Given the description of an element on the screen output the (x, y) to click on. 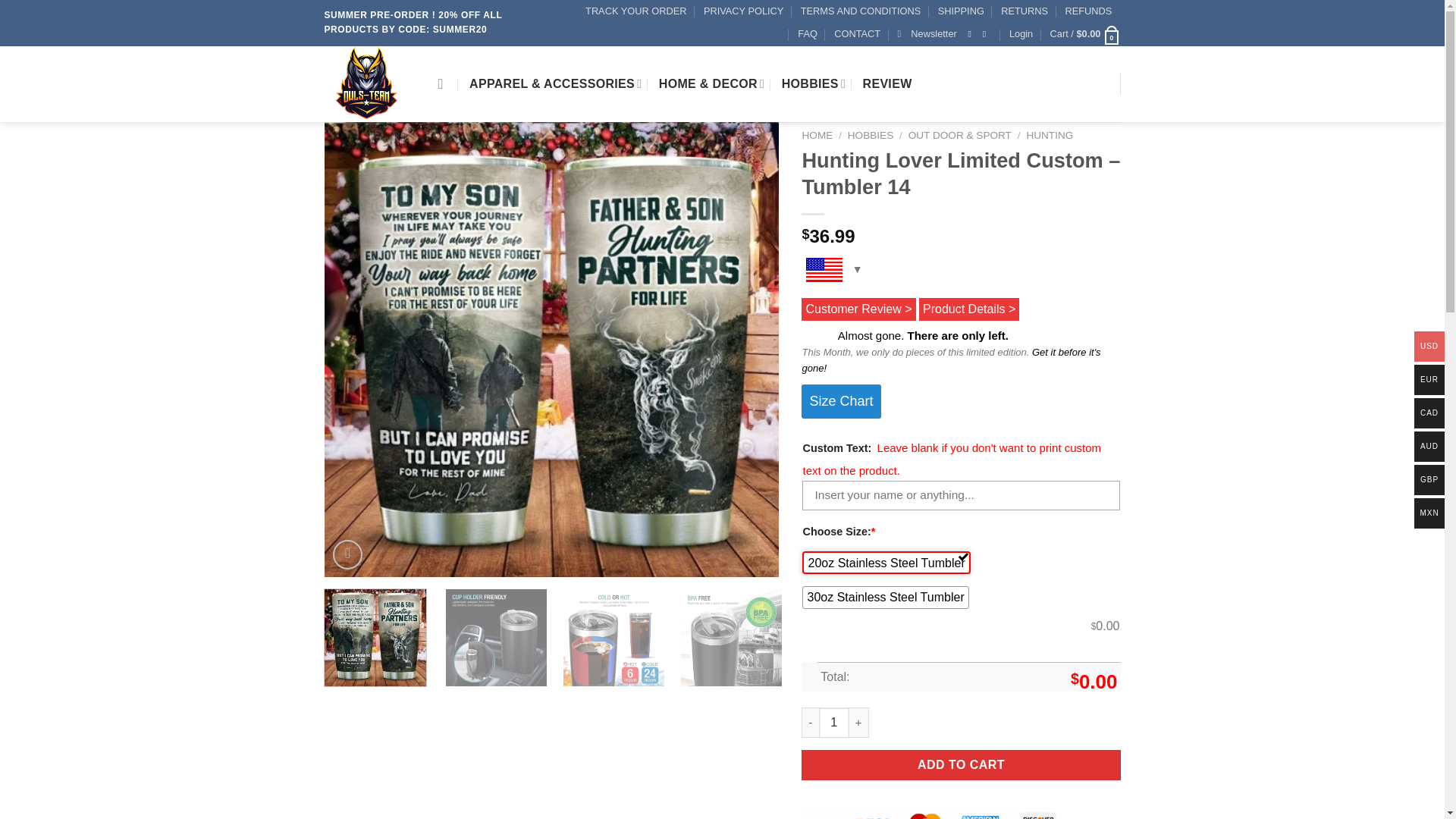
SHIPPING (960, 11)
Sign up for Newsletter (927, 33)
1 (833, 722)
Newsletter (927, 33)
Please select your currency (831, 274)
CONTACT (857, 33)
RETURNS (1024, 11)
Zoom (347, 554)
HOBBIES (813, 83)
TRACK YOUR ORDER (635, 11)
Login (1020, 33)
TERMS AND CONDITIONS (860, 11)
Cart (1085, 33)
REFUNDS (1088, 11)
